Given the description of an element on the screen output the (x, y) to click on. 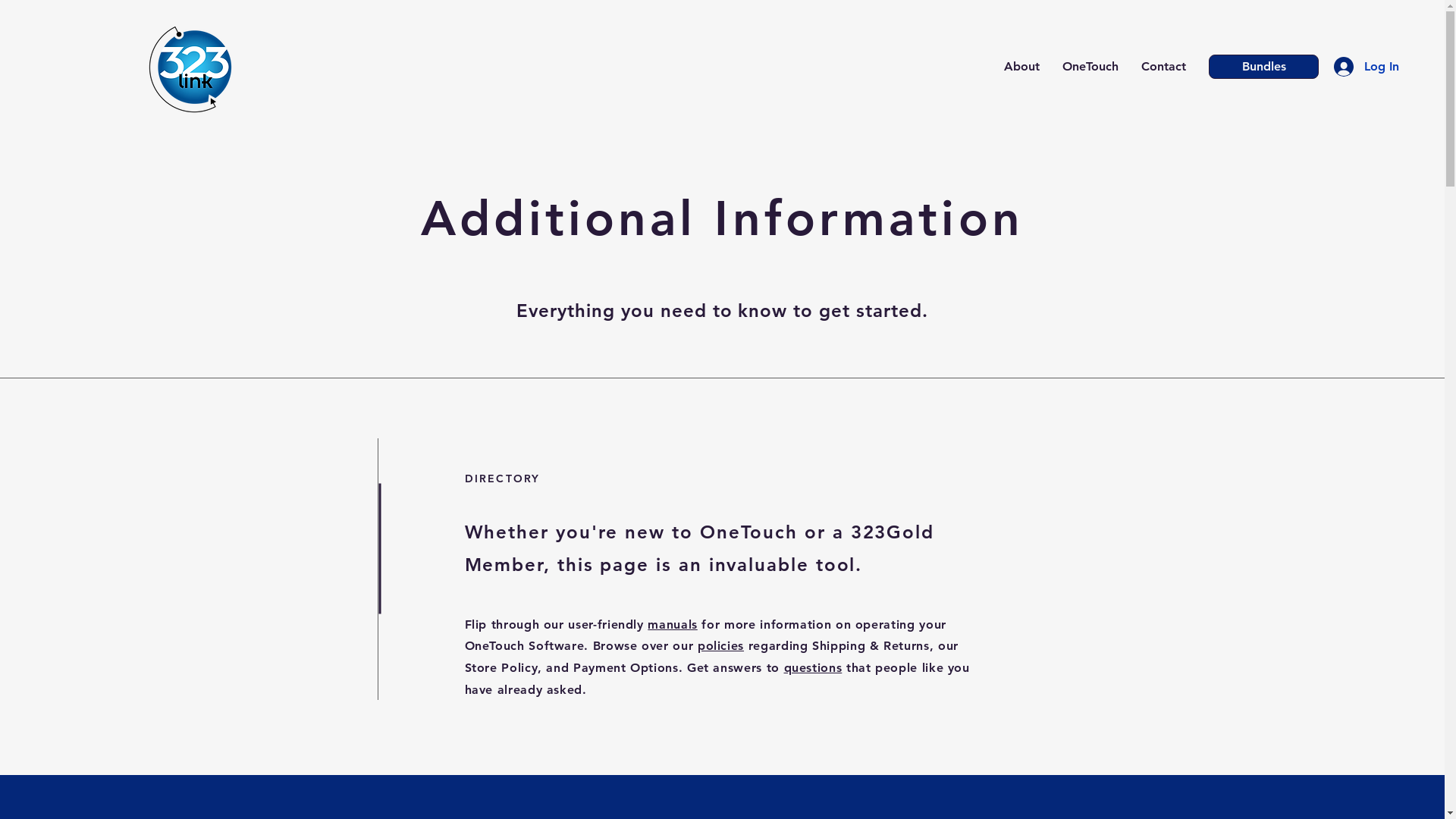
Log In Element type: text (1347, 66)
Bundles Element type: text (1263, 66)
323logo (1).png Element type: hover (192, 66)
About Element type: text (1021, 66)
OneTouch Element type: text (1090, 66)
policies Element type: text (720, 645)
Contact Element type: text (1163, 66)
questions Element type: text (813, 667)
manuals Element type: text (671, 624)
